Given the description of an element on the screen output the (x, y) to click on. 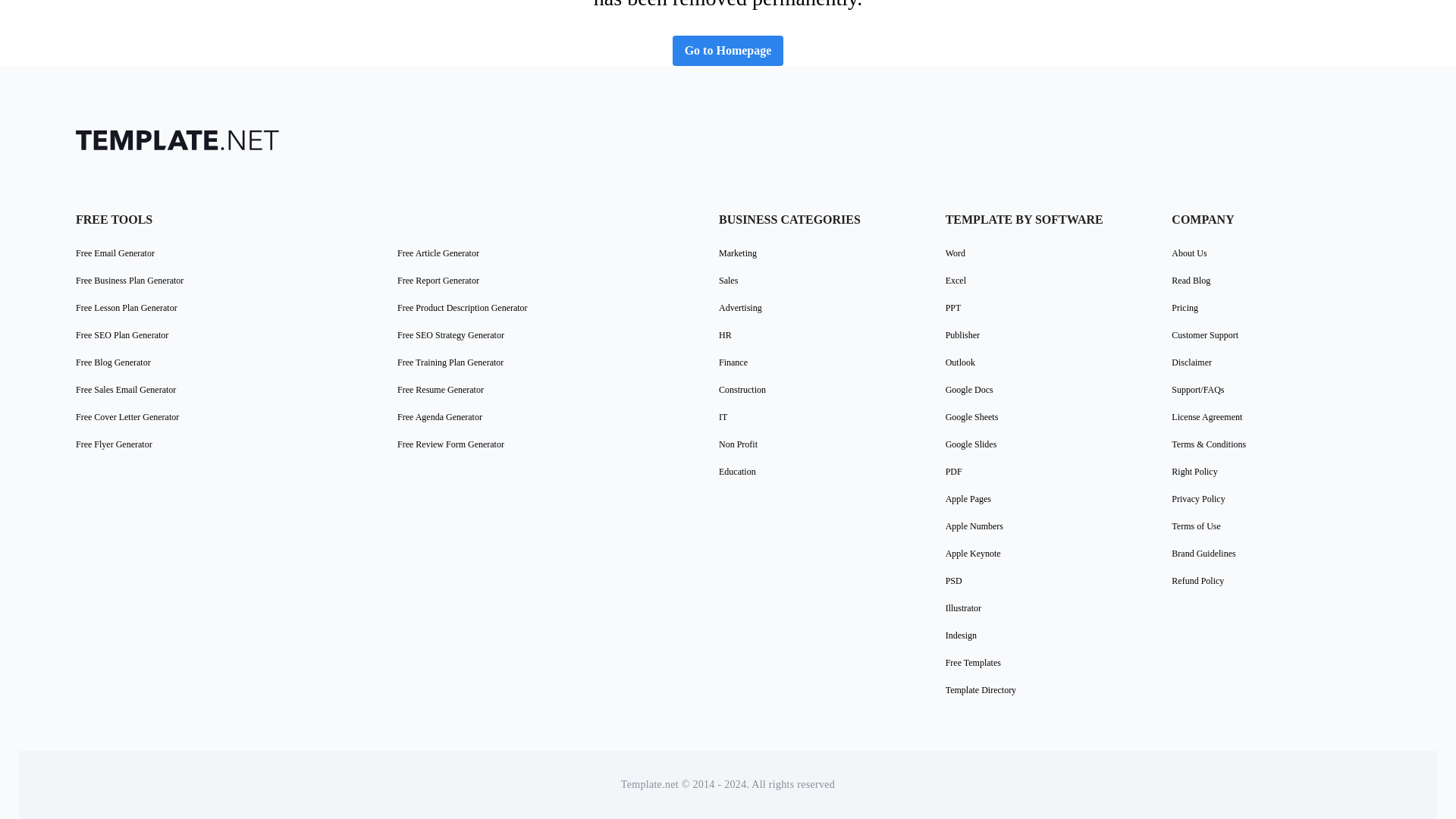
Free Article Generator (438, 253)
Free SEO Plan Generator (121, 335)
Free Business Plan Generator (129, 280)
Free Report Generator (438, 280)
Free Lesson Plan Generator (126, 307)
Go to Homepage (728, 51)
Free Product Description Generator (462, 307)
Free Email Generator (114, 253)
